Given the description of an element on the screen output the (x, y) to click on. 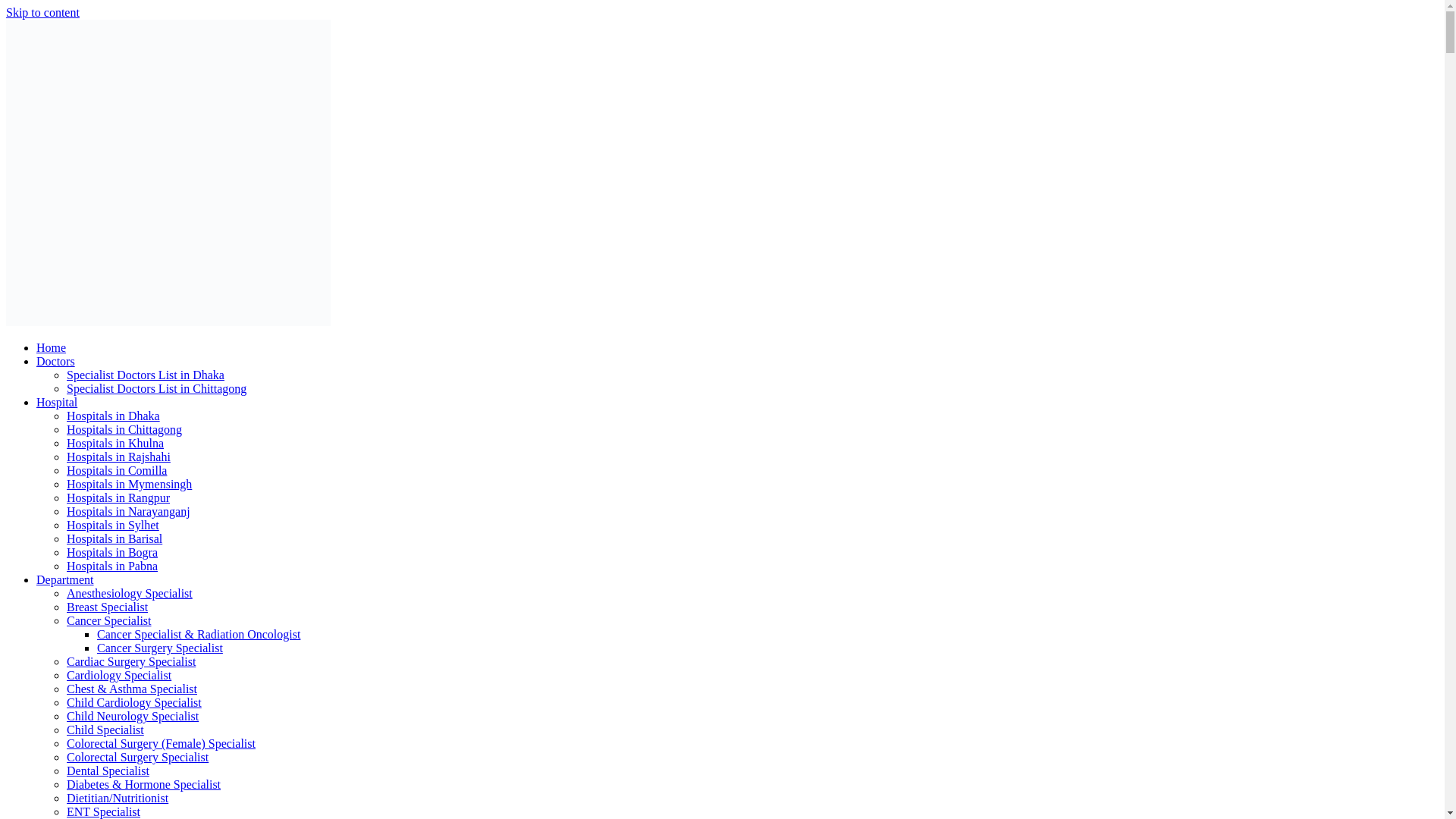
Cancer Surgery Specialist (159, 647)
Hospitals in Chittagong (124, 429)
Cardiac Surgery Specialist (130, 661)
Specialist Doctors List in Chittagong (156, 388)
Hospital (56, 401)
Department (65, 579)
Hospitals in Comilla (116, 470)
Hospitals in Narayanganj (128, 511)
ENT Specialist (102, 811)
Hospitals in Khulna (114, 442)
Hospitals in Sylhet (112, 524)
Doctors (55, 360)
Hospitals in Dhaka (113, 415)
Colorectal Surgery Specialist (137, 757)
Breast Specialist (107, 606)
